Given the description of an element on the screen output the (x, y) to click on. 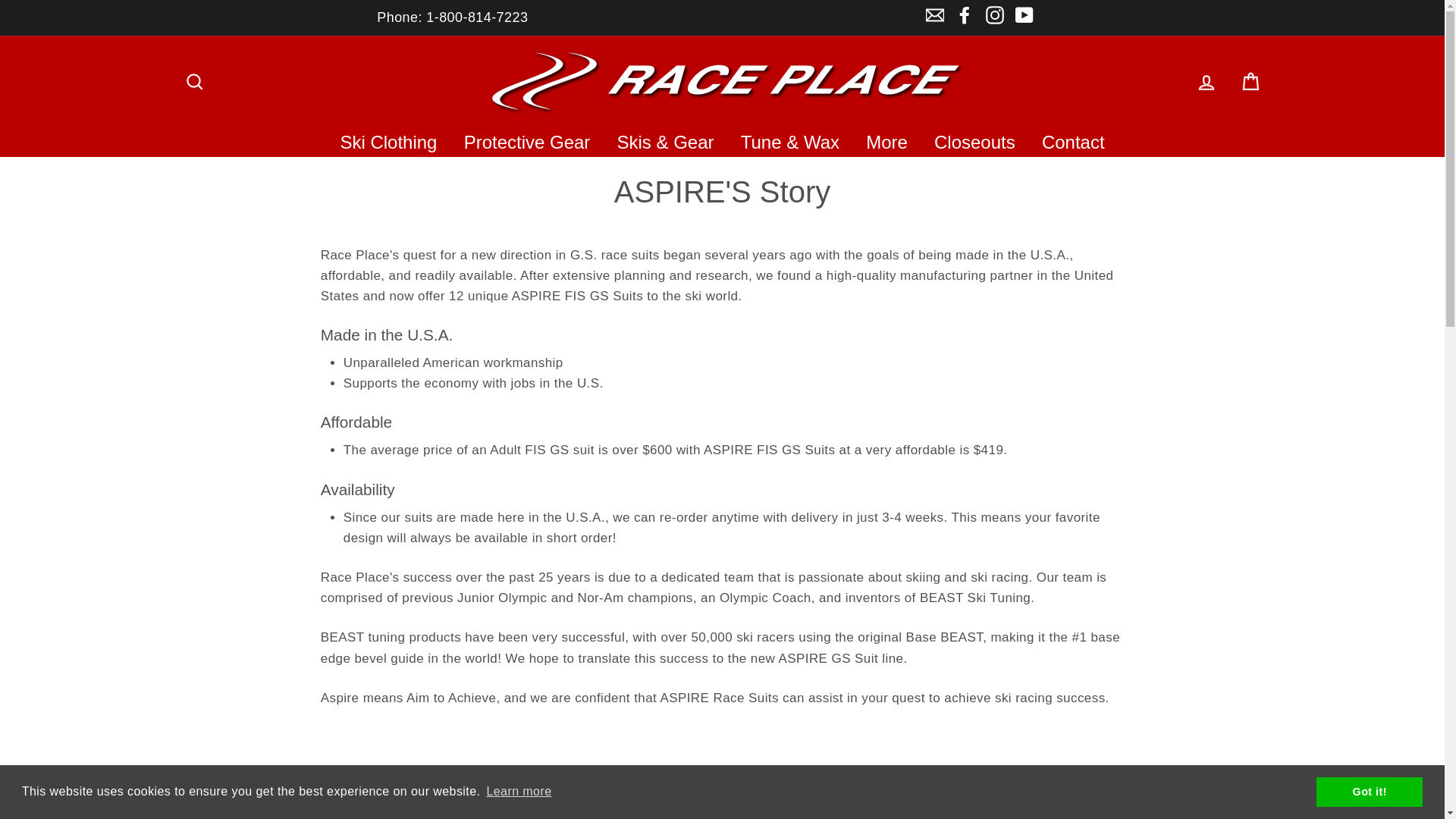
Got it! (1369, 791)
Learn more (518, 791)
